Given the description of an element on the screen output the (x, y) to click on. 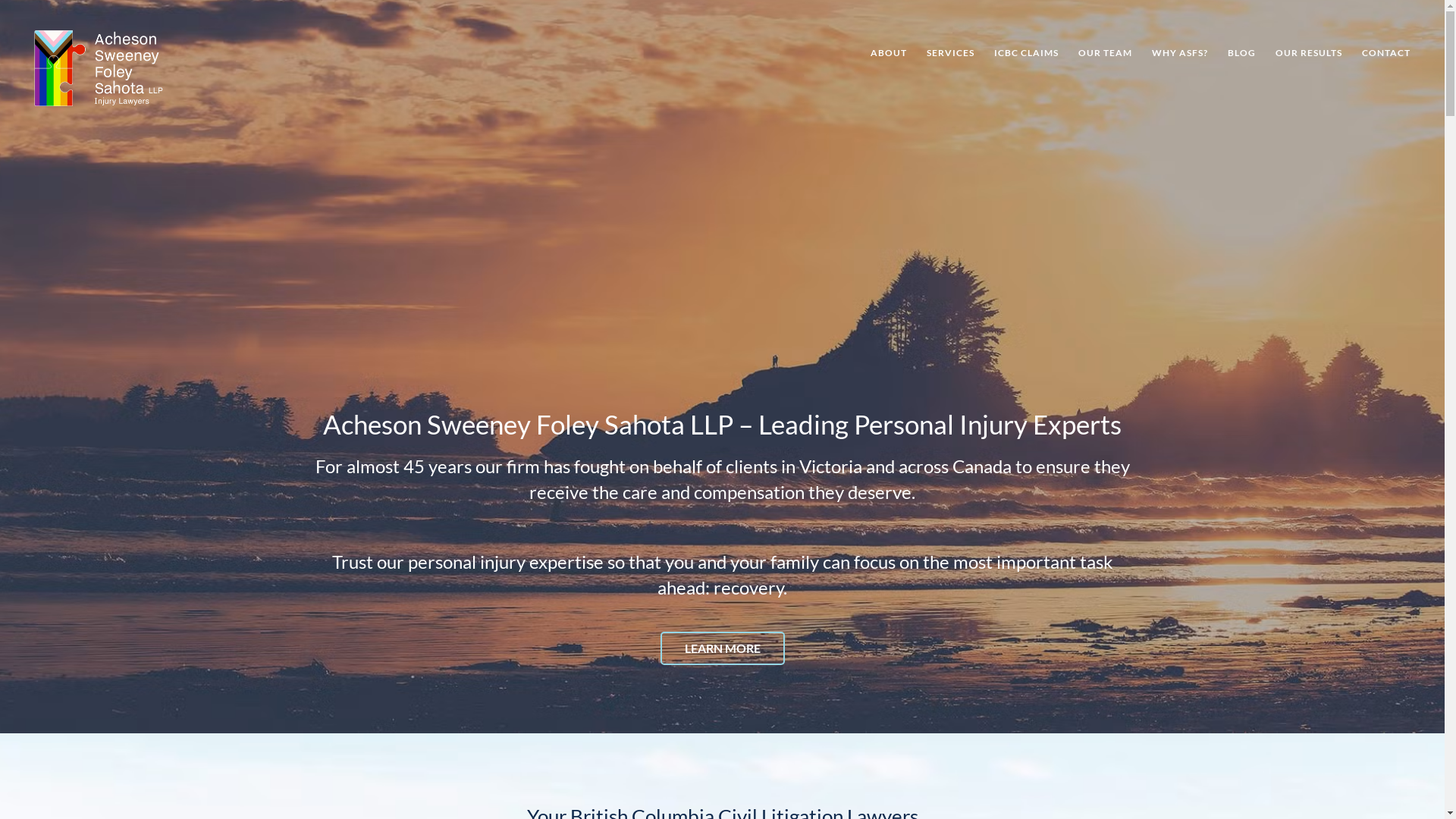
LEARN MORE Element type: text (721, 648)
ABOUT Element type: text (888, 52)
WHY ASFS? Element type: text (1179, 52)
CONTACT Element type: text (1381, 52)
OUR RESULTS Element type: text (1308, 52)
OUR TEAM Element type: text (1105, 52)
SERVICES Element type: text (950, 52)
BLOG Element type: text (1241, 52)
ICBC CLAIMS Element type: text (1026, 52)
